Given the description of an element on the screen output the (x, y) to click on. 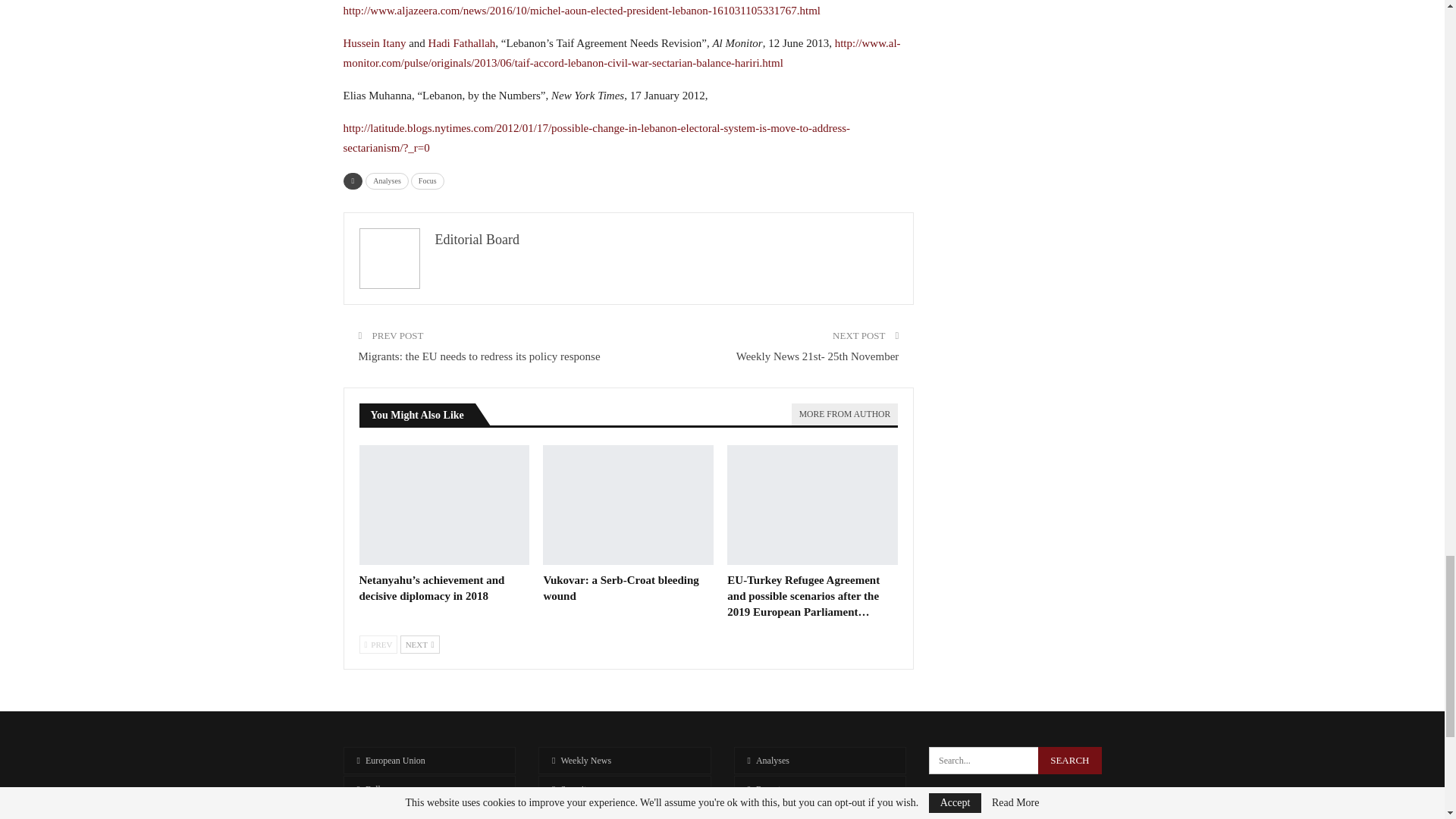
Vukovar: a Serb-Croat bleeding wound (628, 504)
Previous (378, 644)
Next (419, 644)
Search (1069, 759)
Vukovar: a Serb-Croat bleeding wound (620, 587)
Search (1069, 759)
